Given the description of an element on the screen output the (x, y) to click on. 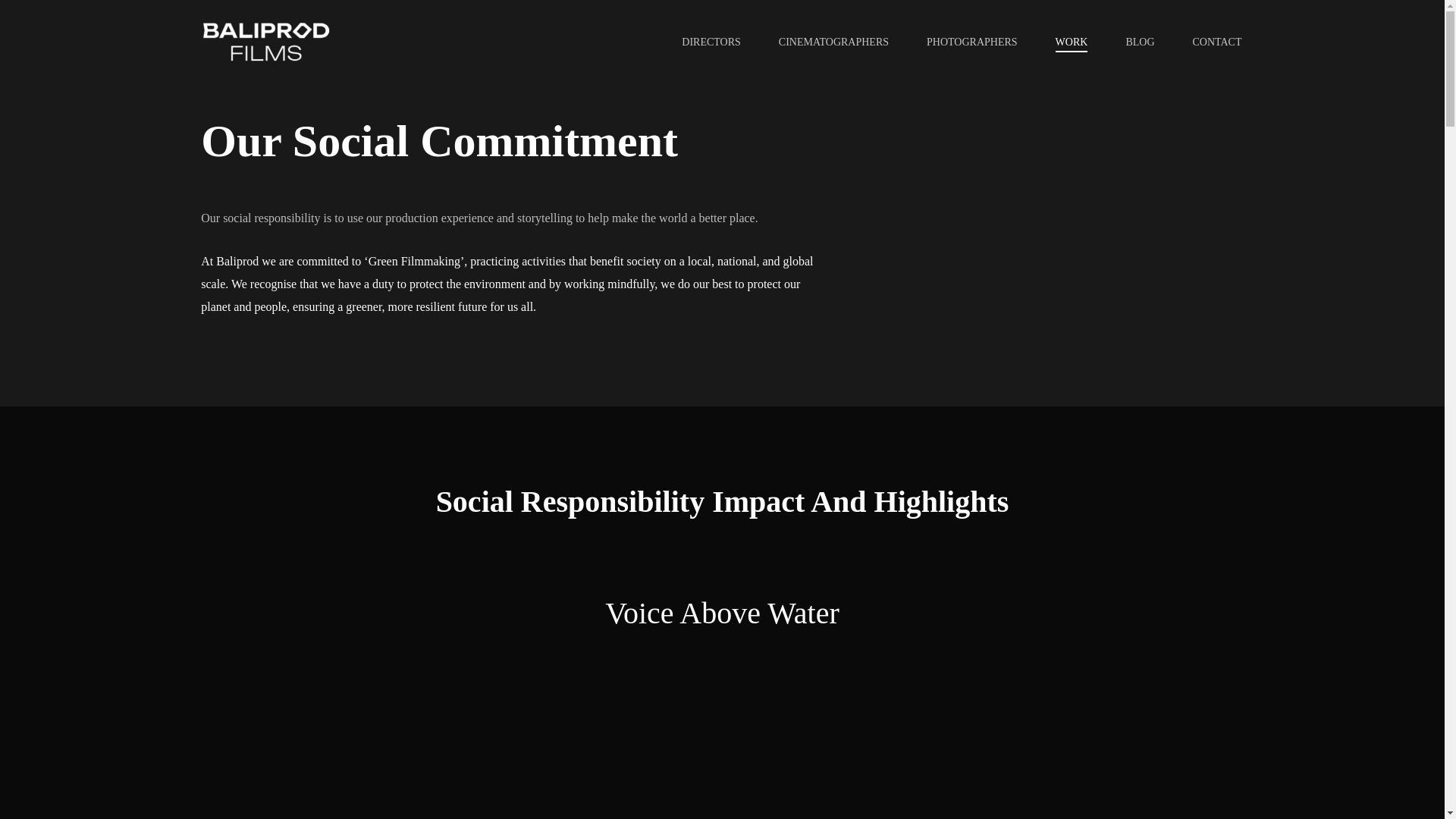
PHOTOGRAPHERS (971, 41)
DIRECTORS (711, 41)
Sign Up (1116, 439)
CINEMATOGRAPHERS (833, 41)
